Given the description of an element on the screen output the (x, y) to click on. 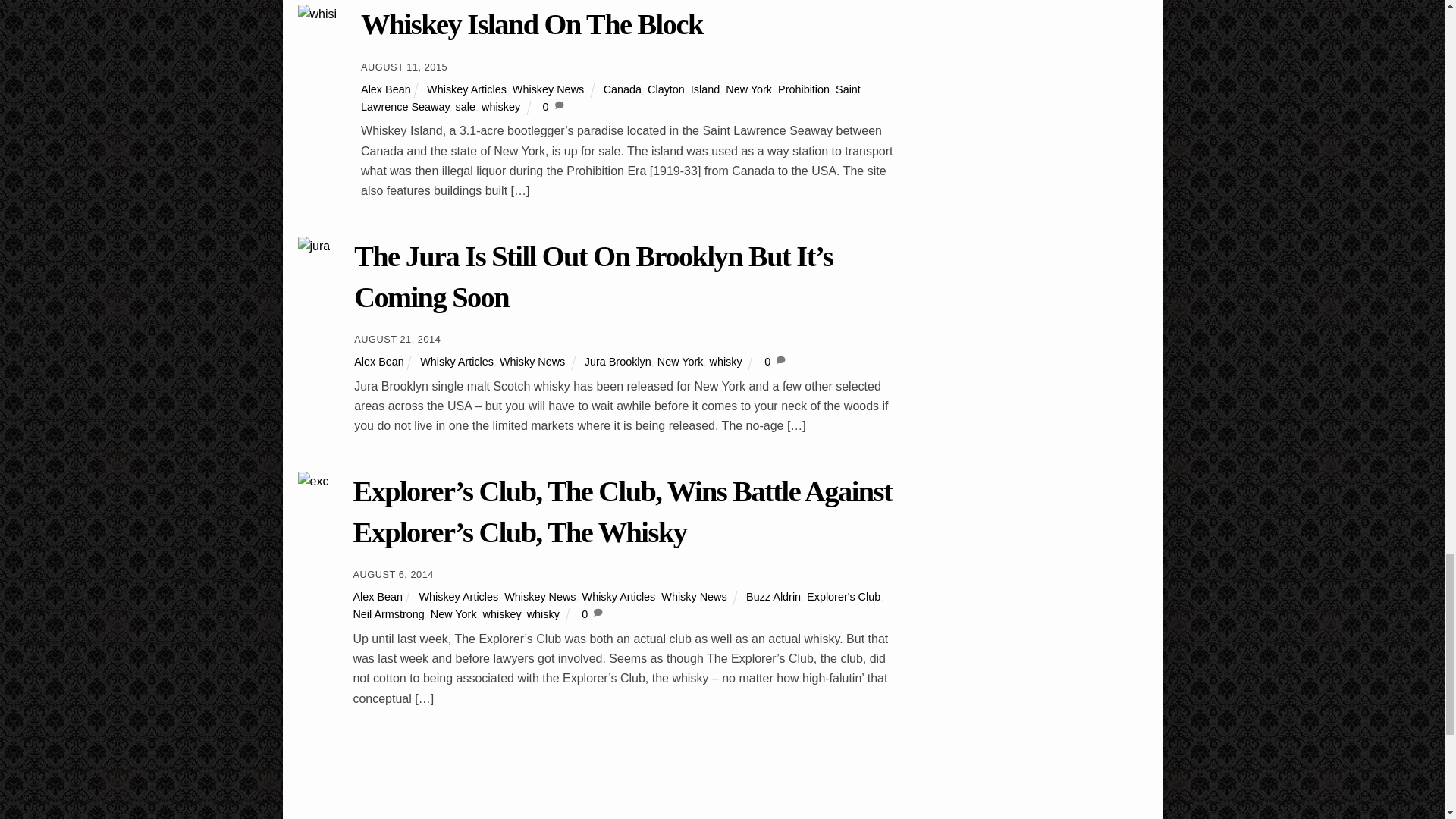
whisi (316, 14)
exc (313, 481)
jura (313, 246)
